Given the description of an element on the screen output the (x, y) to click on. 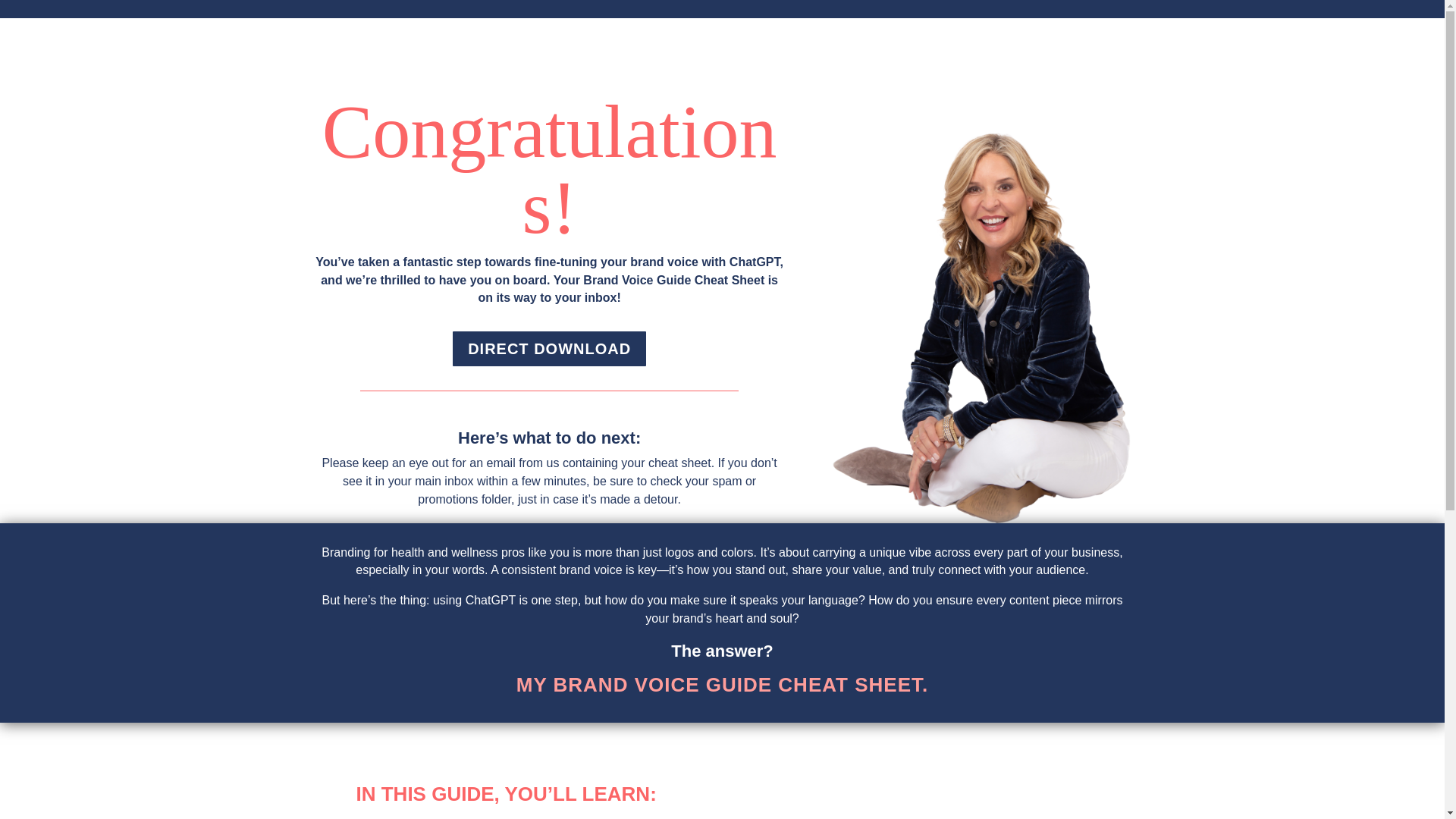
DIRECT DOWNLOAD (549, 348)
